Given the description of an element on the screen output the (x, y) to click on. 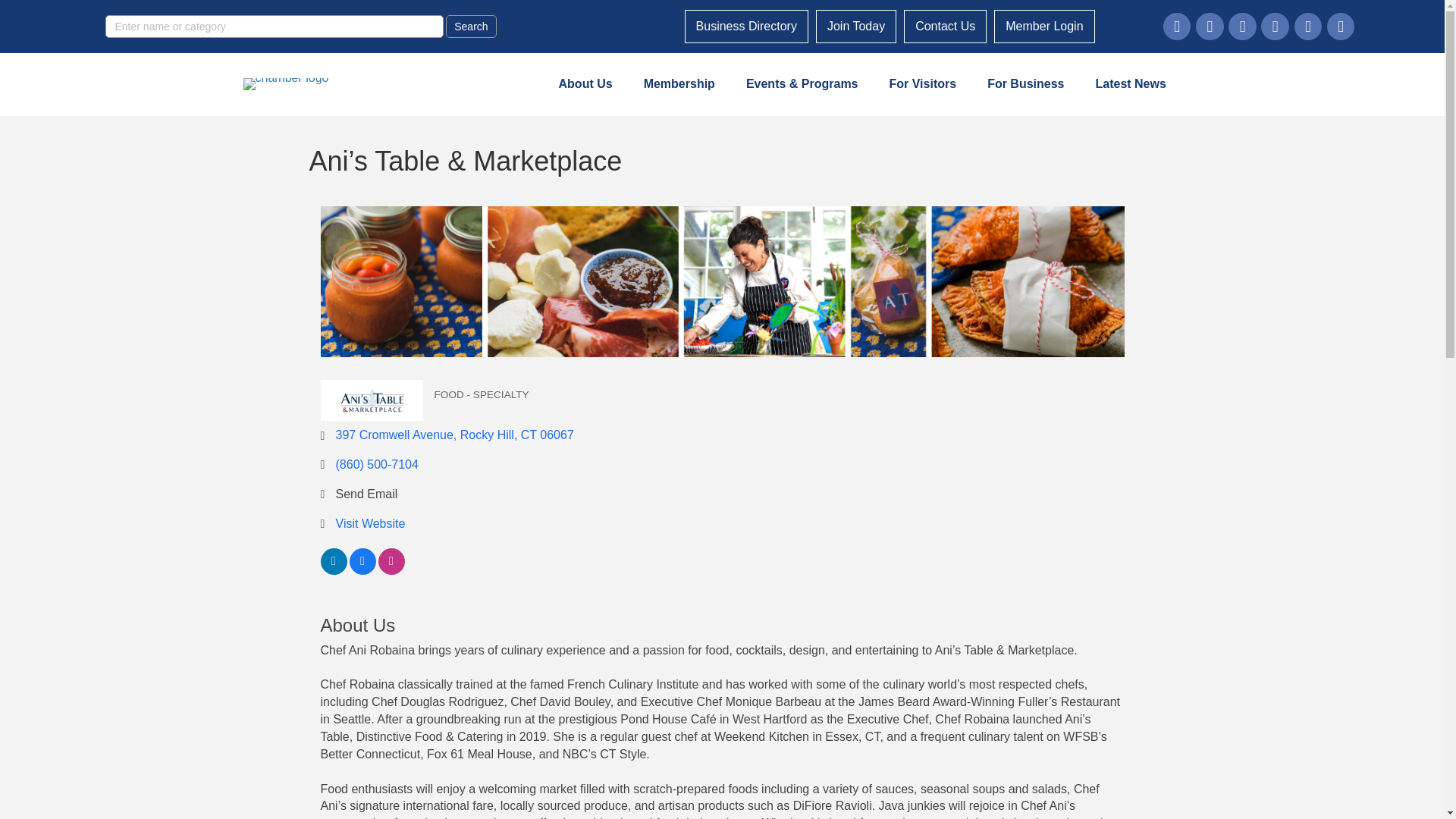
Membership (679, 83)
View on Instagram (390, 570)
Search (470, 26)
About Us (585, 83)
Search (470, 26)
Join Today (855, 26)
Search (470, 26)
View on LinkedIn (333, 570)
Member Login (1044, 26)
View on Facebook (362, 570)
